Given the description of an element on the screen output the (x, y) to click on. 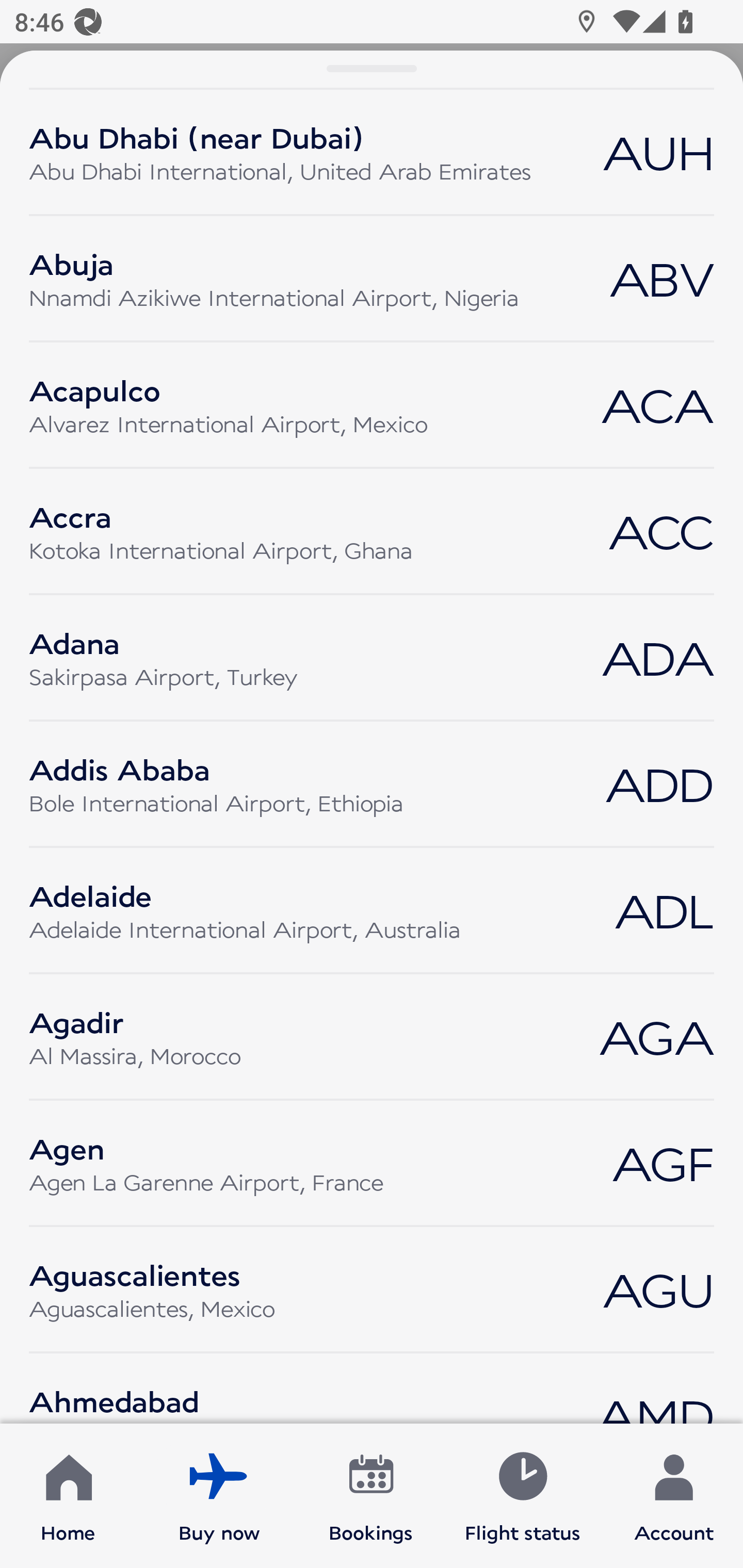
Acapulco Alvarez International Airport, Mexico ACA (371, 405)
Accra Kotoka International Airport, Ghana ACC (371, 530)
Adana Sakirpasa Airport, Turkey ADA (371, 657)
Agadir Al Massira, Morocco AGA (371, 1037)
Agen Agen La Garenne Airport, France AGF (371, 1162)
Aguascalientes Aguascalientes, Mexico AGU (371, 1289)
Home (68, 1495)
Bookings (370, 1495)
Flight status (522, 1495)
Account (674, 1495)
